Given the description of an element on the screen output the (x, y) to click on. 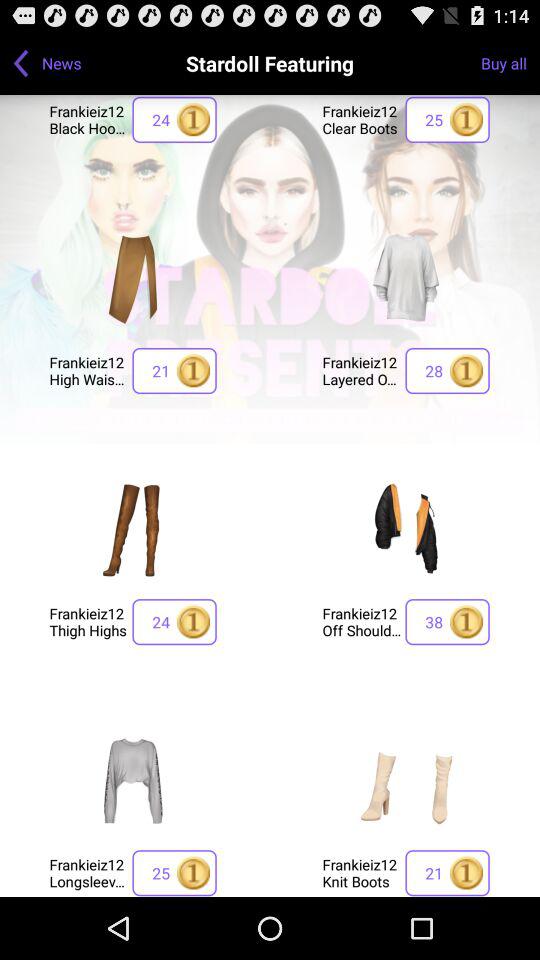
select frankieiz12 knit boots (406, 780)
